Given the description of an element on the screen output the (x, y) to click on. 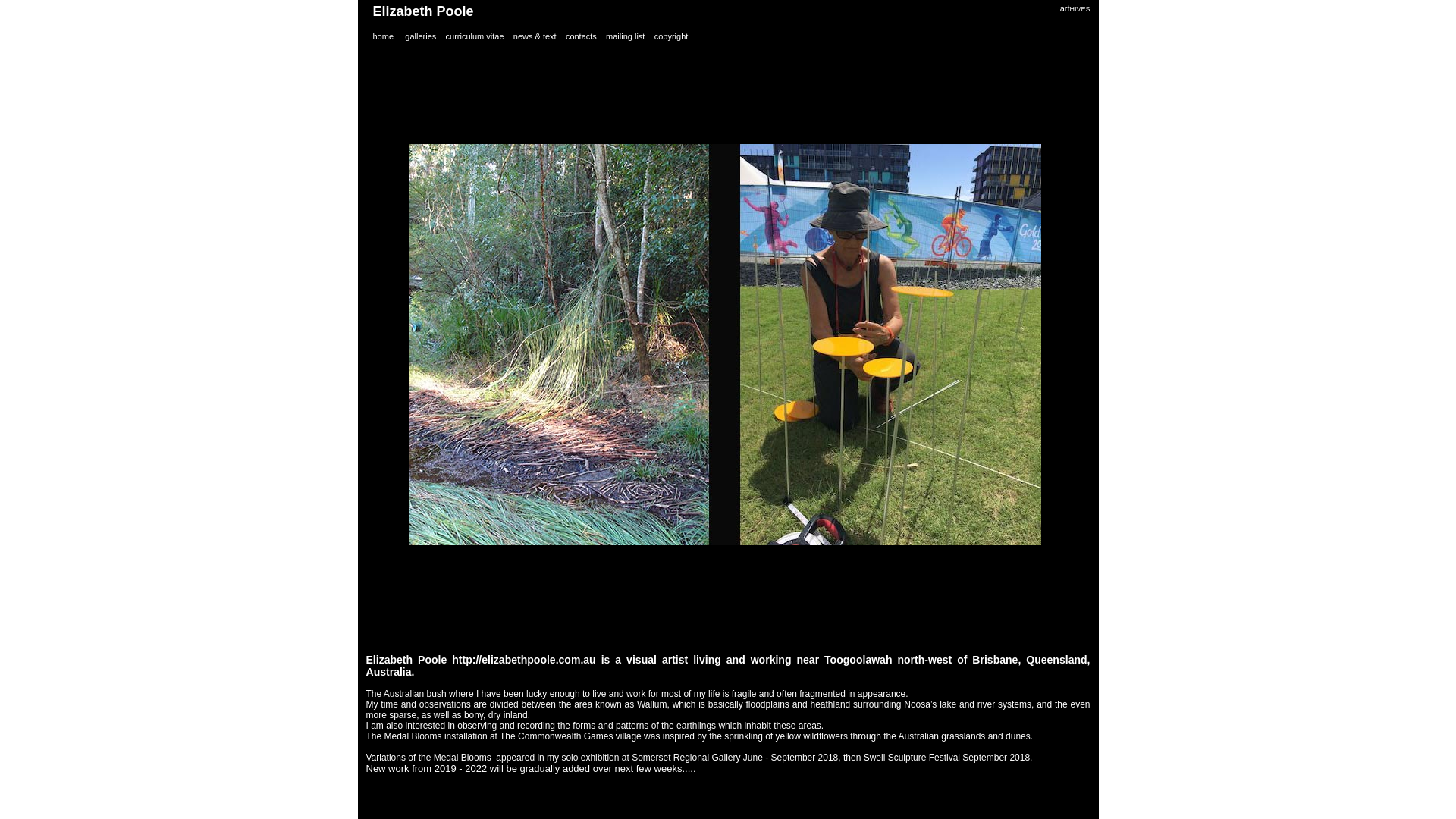
home Element type: text (383, 35)
artHIVES Element type: text (1075, 6)
galleries Element type: text (420, 35)
mailing list Element type: text (624, 35)
news & text Element type: text (534, 35)
contacts Element type: text (580, 35)
copyright Element type: text (671, 35)
curriculum vitae Element type: text (474, 35)
